Given the description of an element on the screen output the (x, y) to click on. 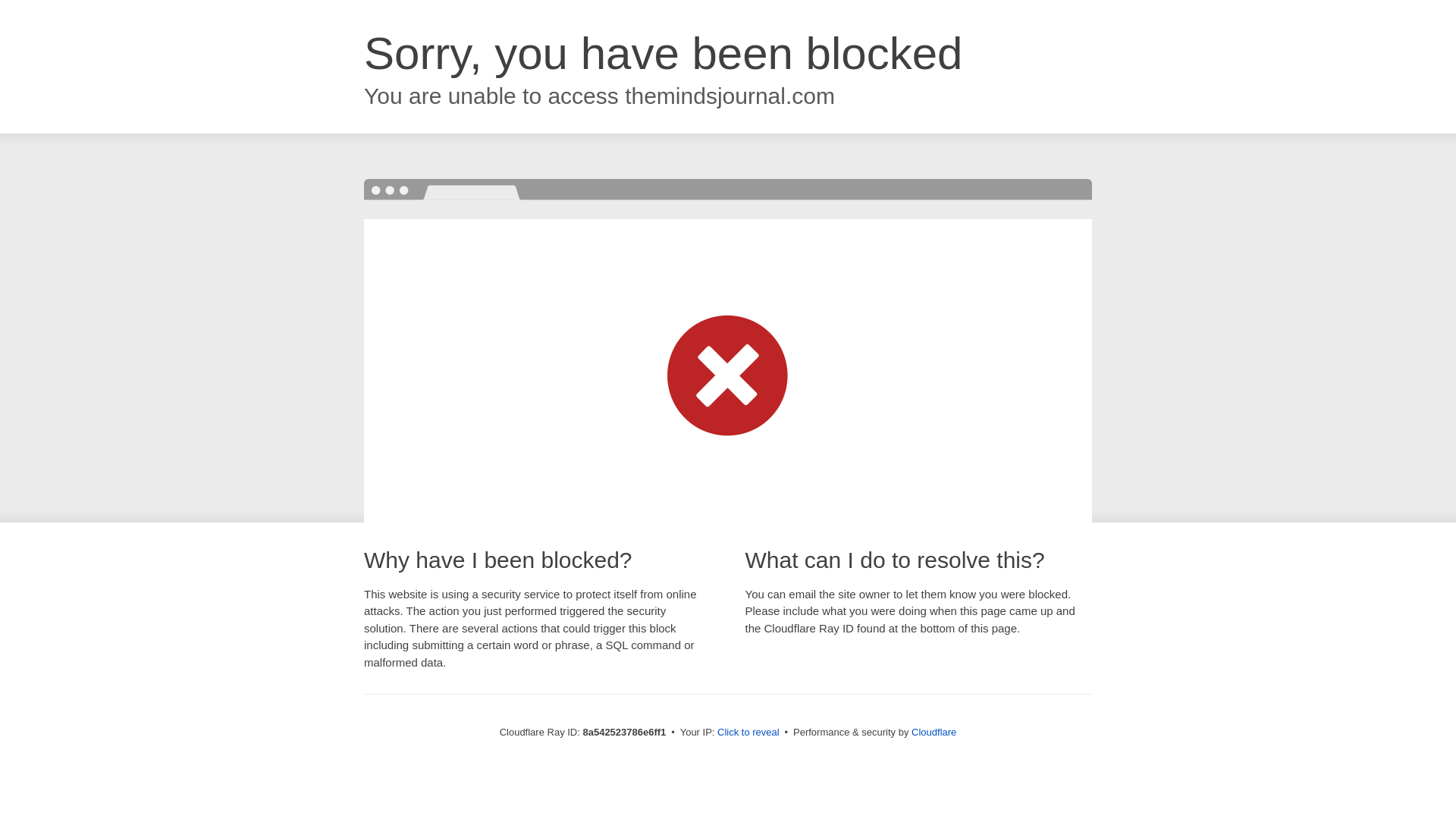
Cloudflare (933, 731)
Click to reveal (747, 732)
